Given the description of an element on the screen output the (x, y) to click on. 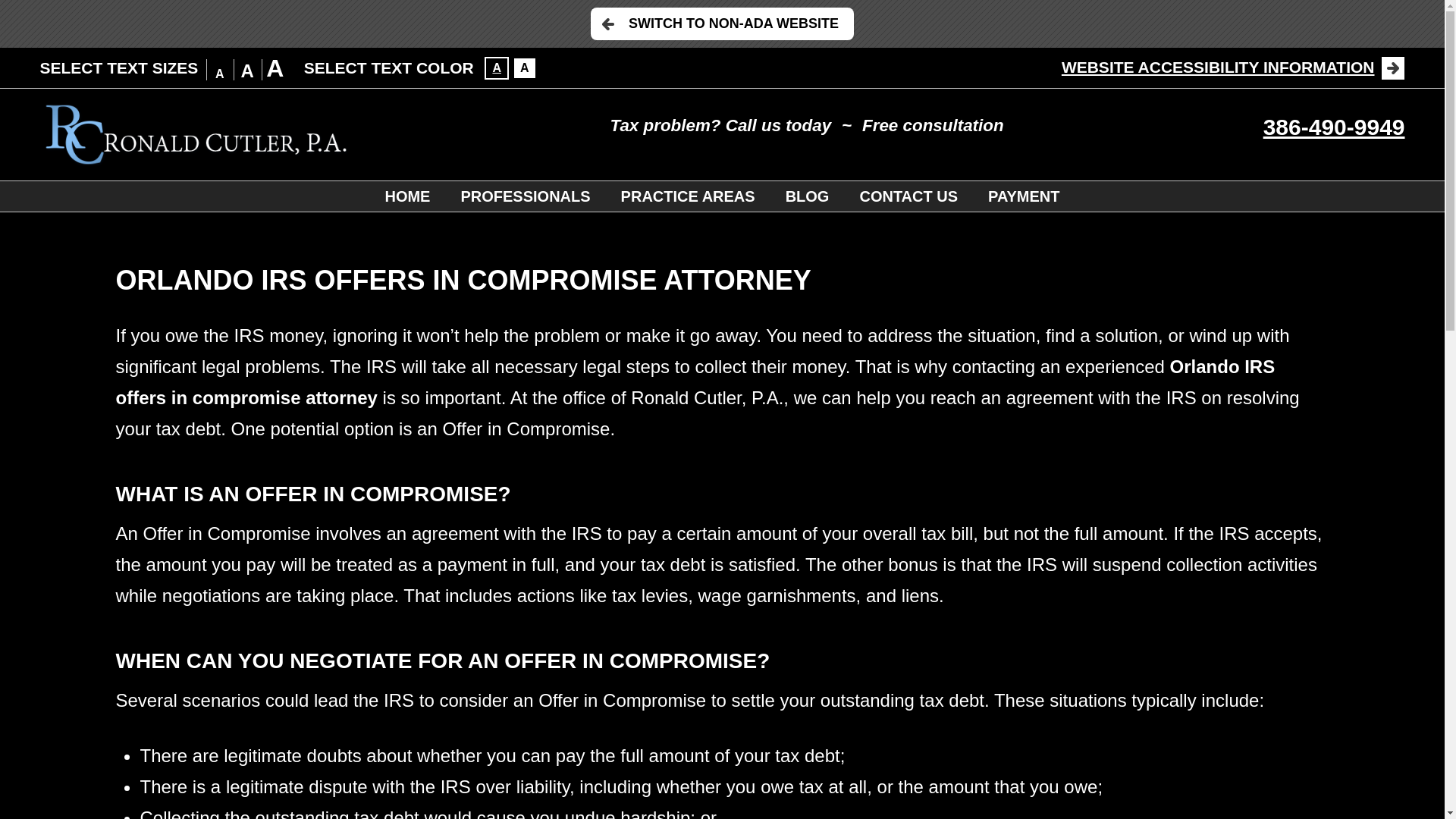
PROFESSIONALS (525, 195)
A (247, 71)
A (219, 73)
SWITCH TO NON-ADA WEBSITE (722, 23)
Invert Colors (524, 67)
WEBSITE ACCESSIBILITY INFORMATION (1233, 67)
Click to view external accessibility article (1233, 67)
A (274, 68)
A (496, 67)
Invert Colors (496, 67)
PRACTICE AREAS (687, 195)
386-490-9949 (1334, 126)
HOME (407, 195)
A (524, 67)
